Given the description of an element on the screen output the (x, y) to click on. 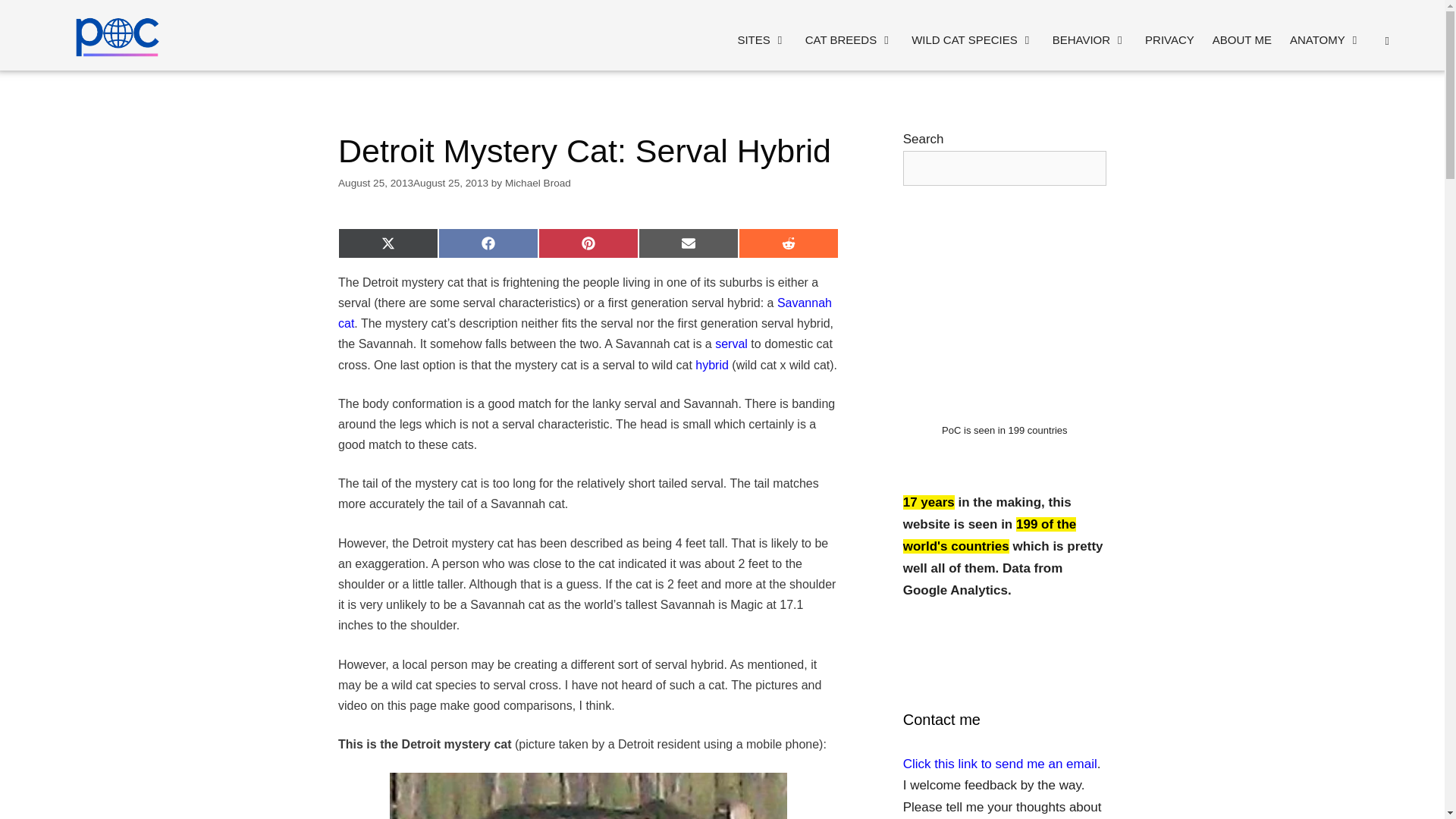
CAT BREEDS (849, 40)
All the cat breeds fully discussed and illustrated (849, 40)
SITES (761, 40)
All the wild cat species listed (972, 40)
BEHAVIOR (1089, 40)
WILD CAT SPECIES (972, 40)
